Given the description of an element on the screen output the (x, y) to click on. 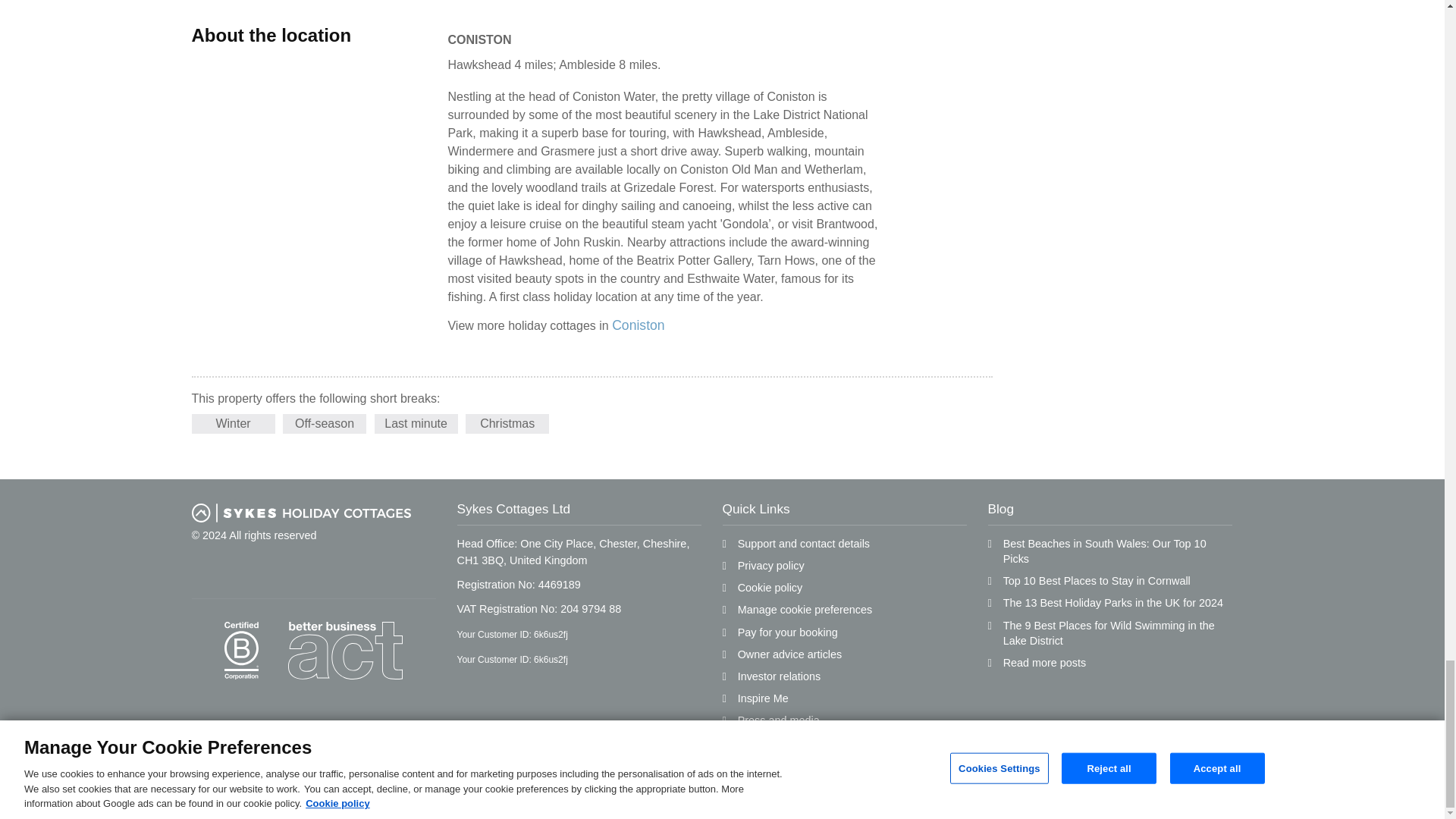
Sykes Cottages (300, 512)
